Given the description of an element on the screen output the (x, y) to click on. 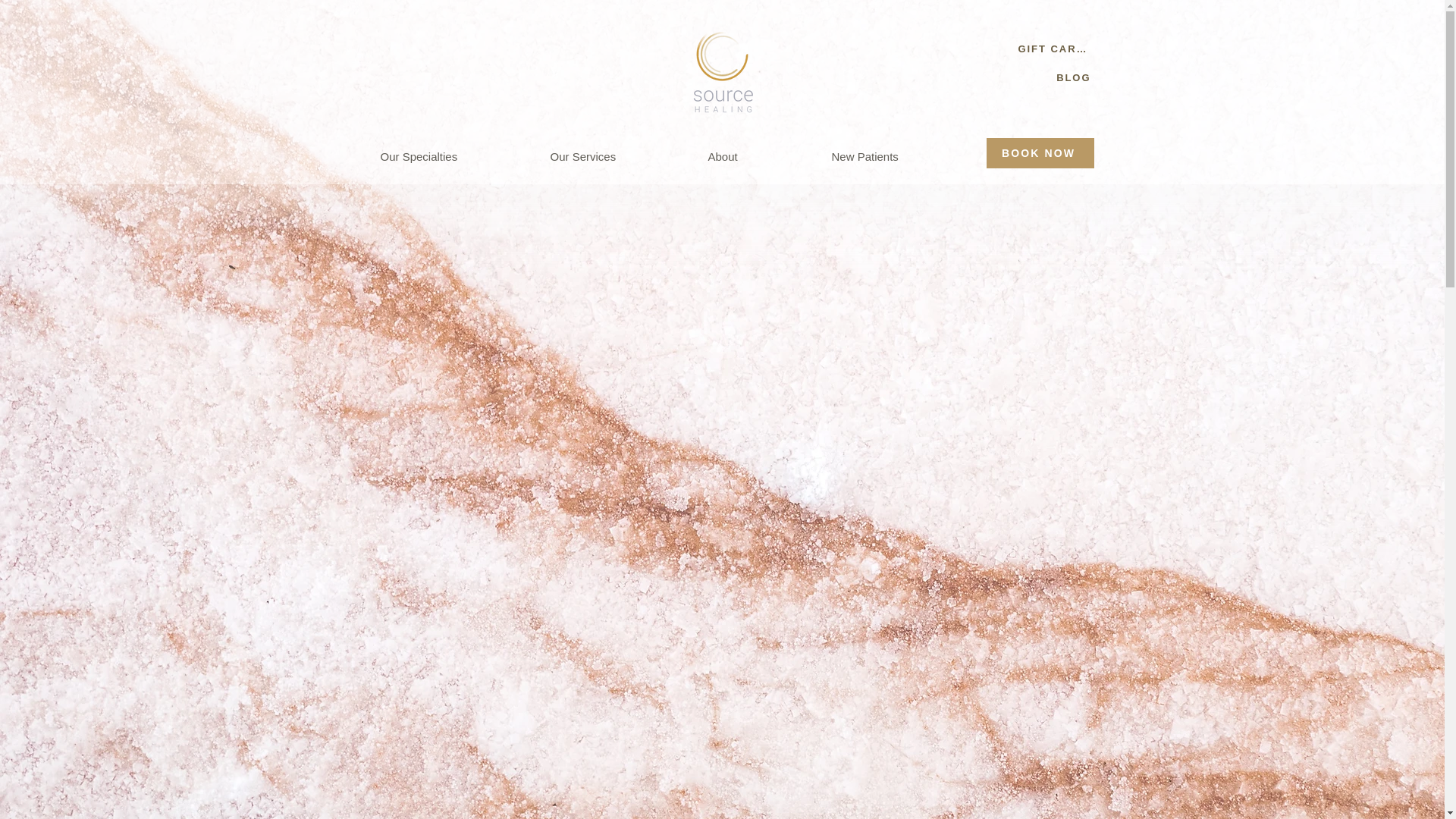
BLOG (1072, 77)
Our Specialties (452, 156)
BOOK NOW (1039, 153)
About (757, 156)
New Patients (898, 156)
Our Services (616, 156)
GIFT CARDS (1055, 48)
